Given the description of an element on the screen output the (x, y) to click on. 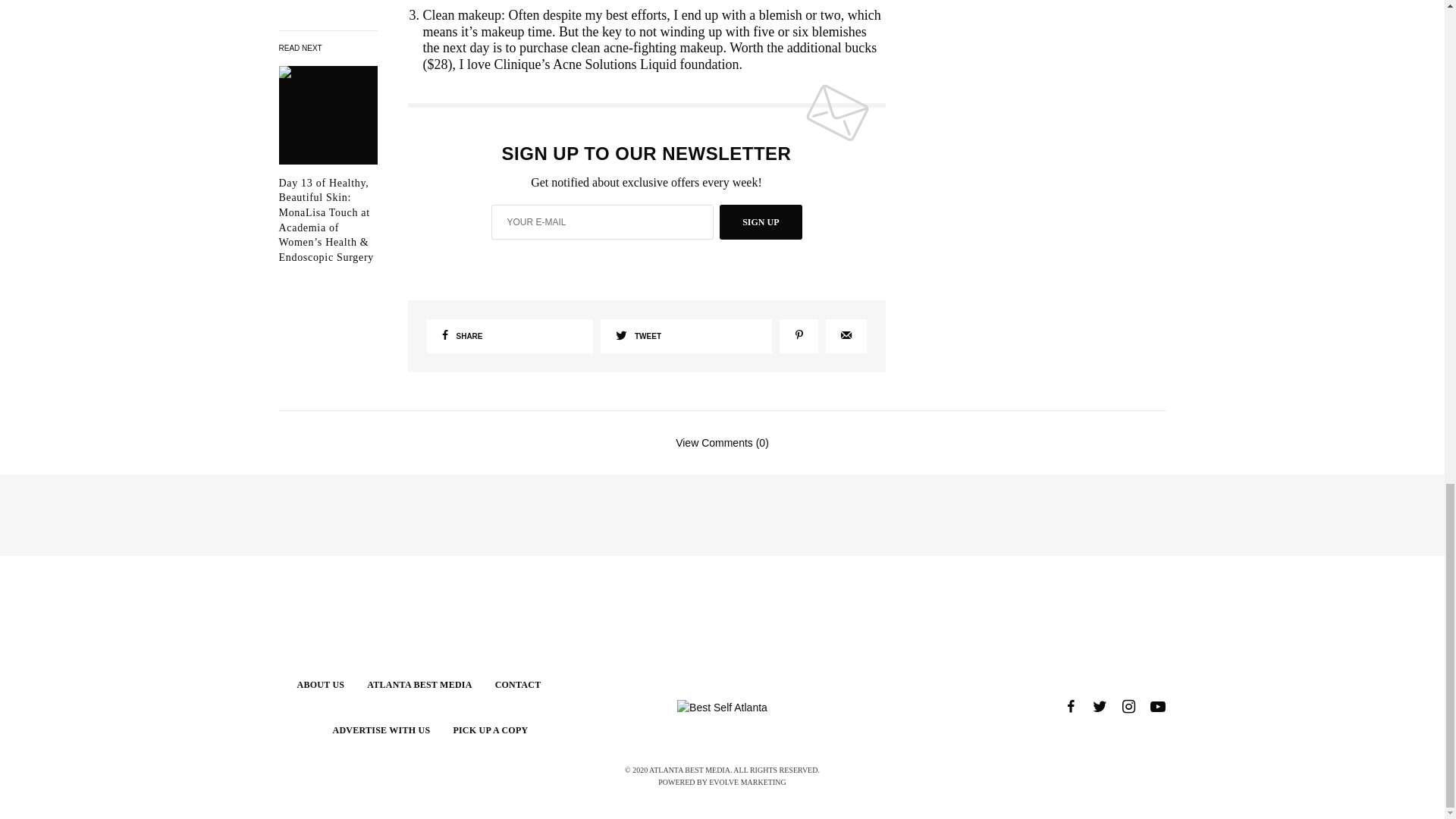
SHARE (509, 335)
Best Self Atlanta (722, 707)
SIGN UP (760, 221)
